Given the description of an element on the screen output the (x, y) to click on. 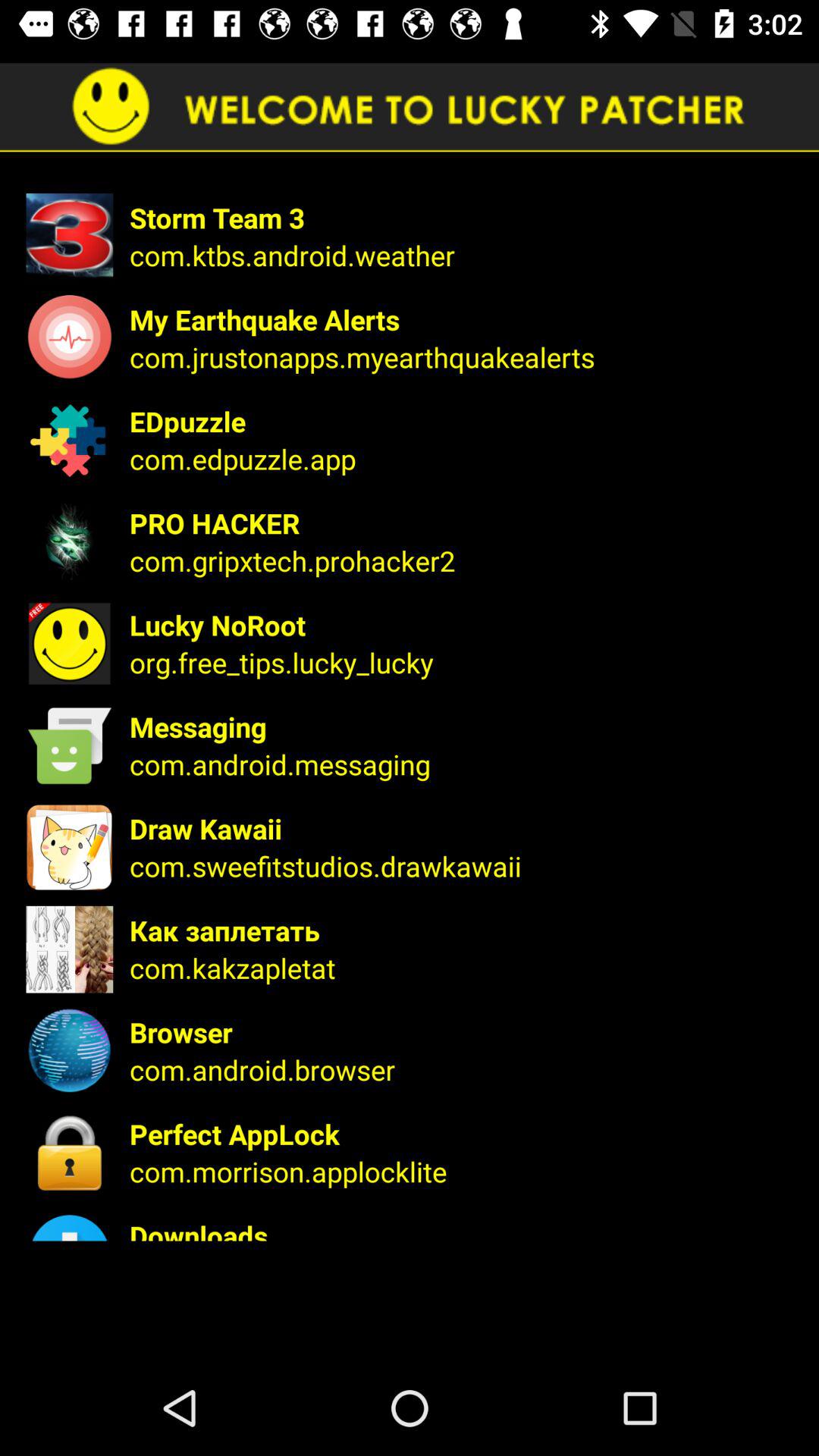
tap the downloads app (464, 1229)
